Given the description of an element on the screen output the (x, y) to click on. 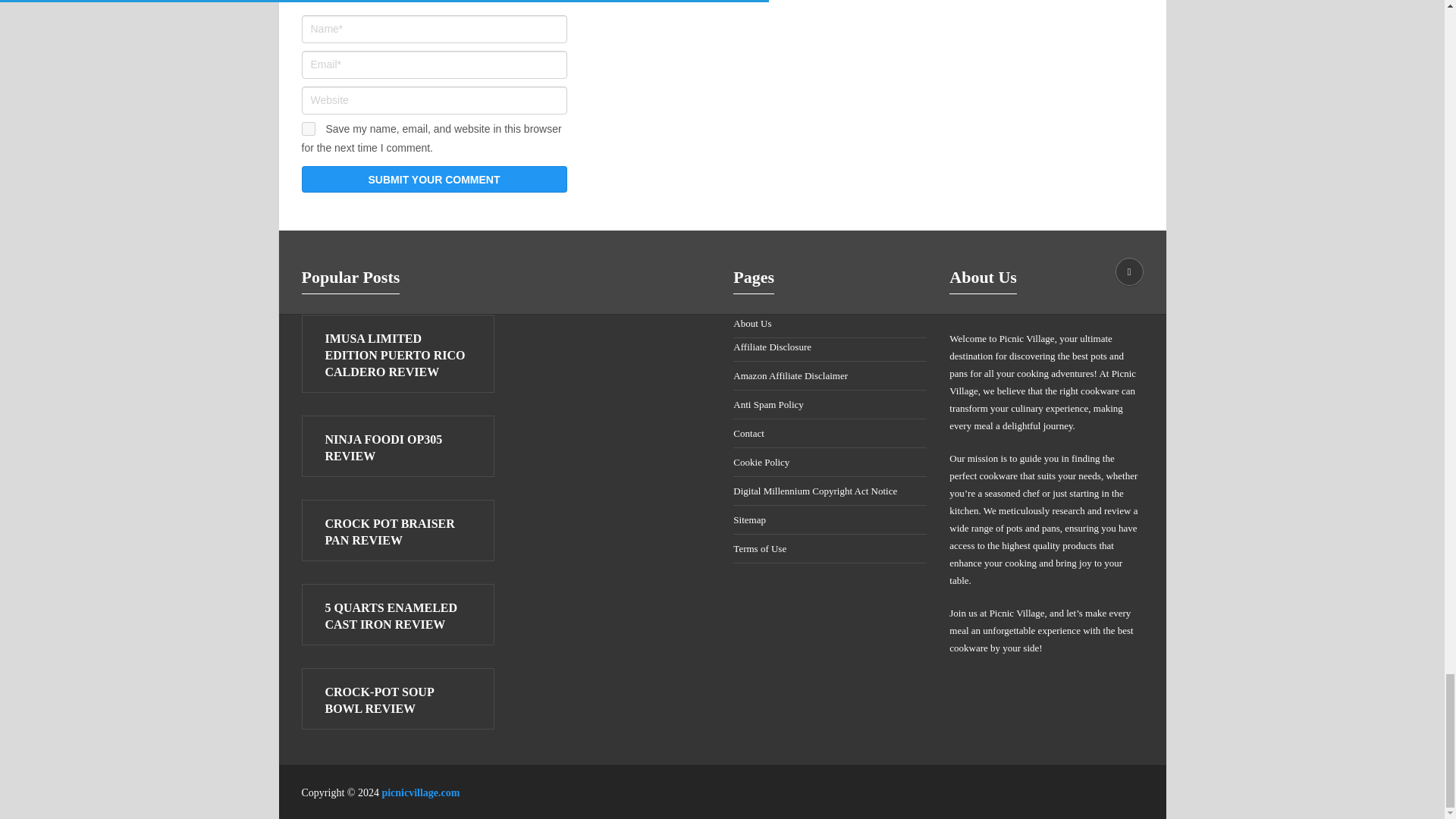
Ninja Foodi OP305 Review (397, 448)
Submit Your Comment (434, 179)
Submit Your Comment (434, 179)
yes (308, 128)
IMUSA LIMITED EDITION Puerto Rico Caldero Review (397, 355)
Crock Pot Braiser Pan Review (397, 531)
